Given the description of an element on the screen output the (x, y) to click on. 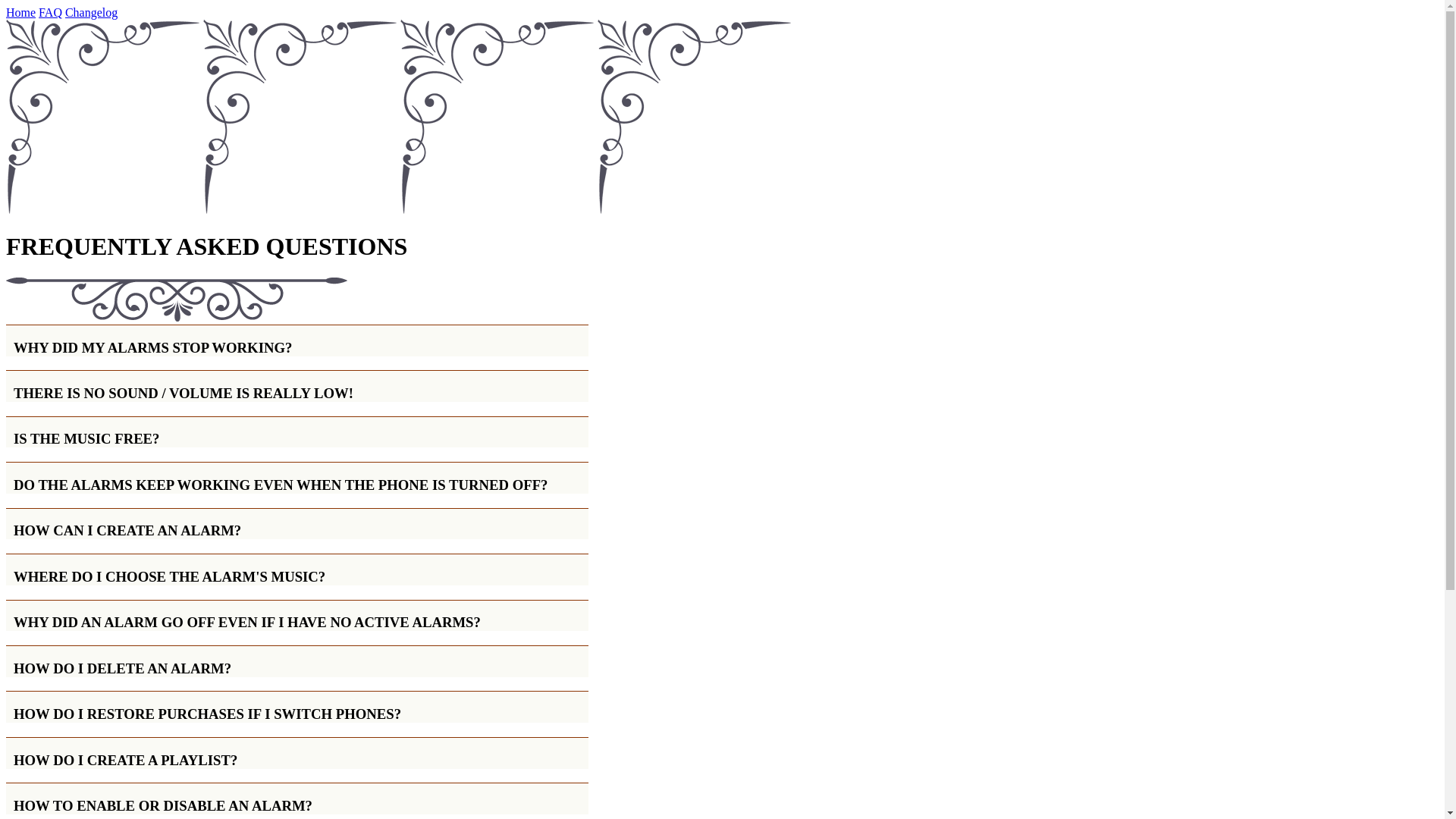
Home (19, 11)
FAQ (50, 11)
Changelog (91, 11)
